Given the description of an element on the screen output the (x, y) to click on. 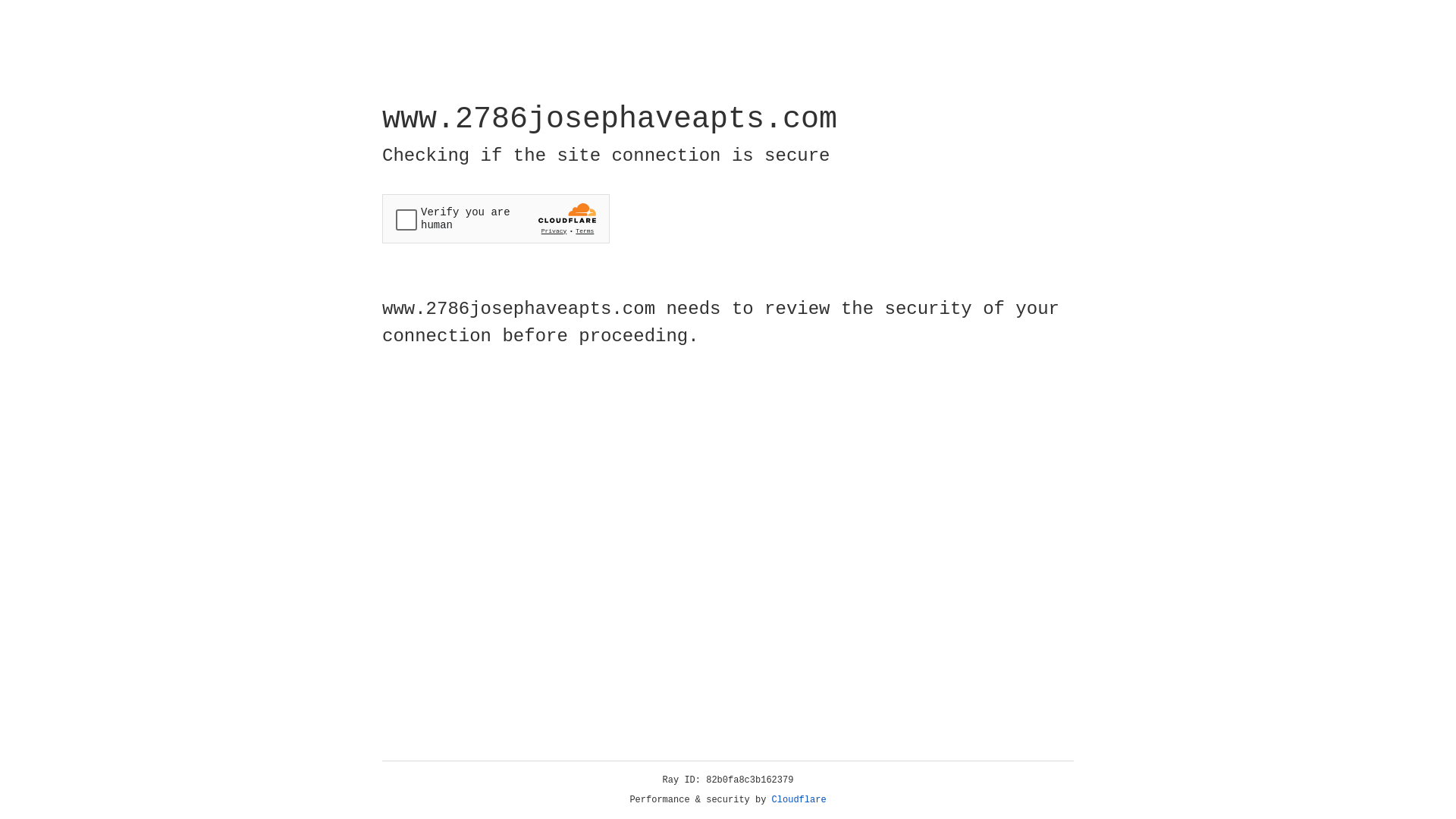
Widget containing a Cloudflare security challenge Element type: hover (495, 218)
Cloudflare Element type: text (798, 799)
